Given the description of an element on the screen output the (x, y) to click on. 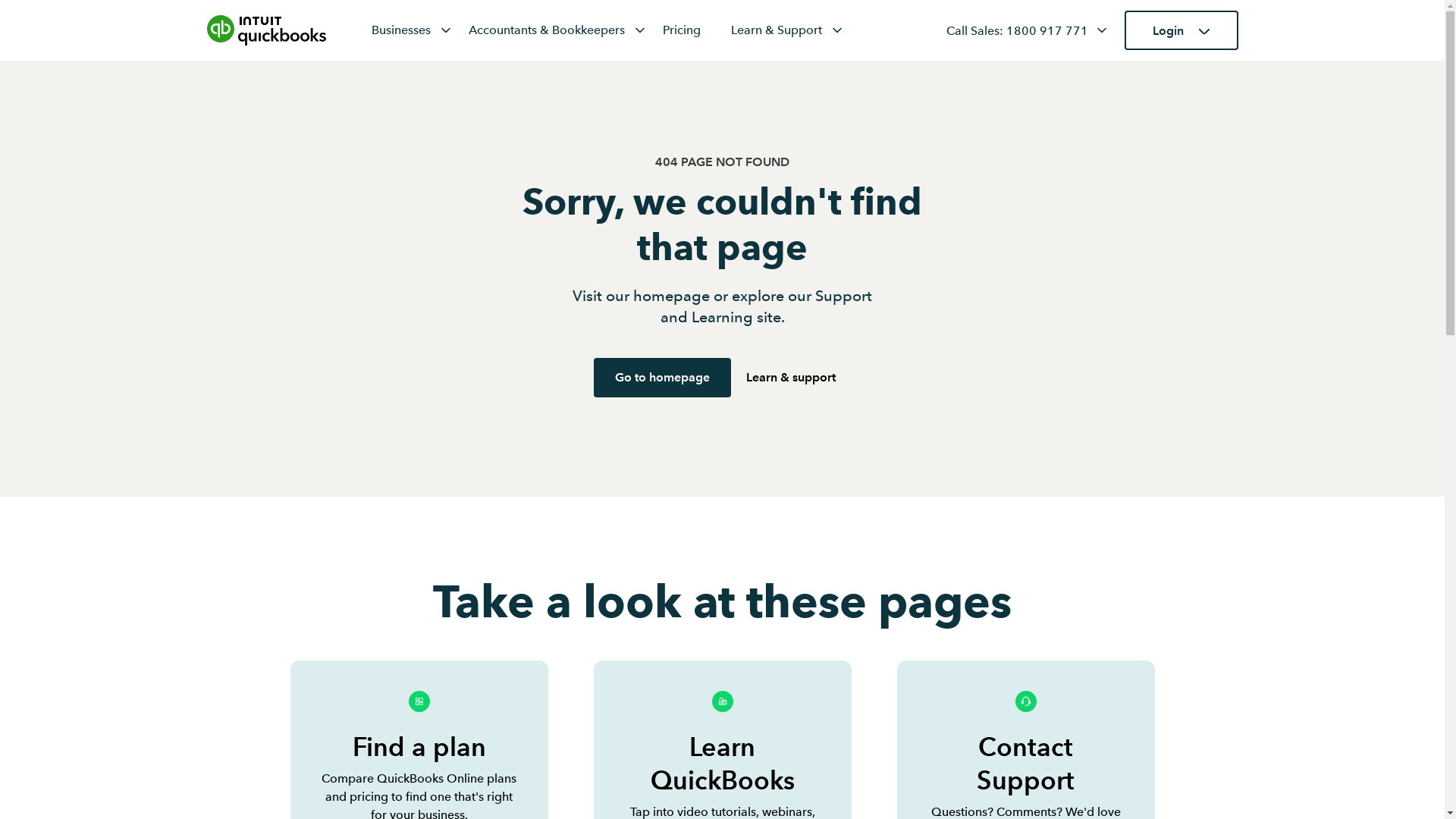
Businesses Element type: text (412, 30)
Accountants & Bookkeepers Element type: text (557, 30)
Login Element type: text (1180, 30)
Learn & support Element type: text (790, 377)
quickbooks-support-icon-g.svg Element type: hover (1024, 707)
Call Sales: 1800 917 771 Element type: text (1017, 29)
sbseg-green-icon Element type: hover (418, 707)
Pricing Element type: text (681, 30)
Learn & Support Element type: text (787, 30)
Go to homepage Element type: text (662, 377)
sbseg-green-icon Element type: hover (721, 707)
